Given the description of an element on the screen output the (x, y) to click on. 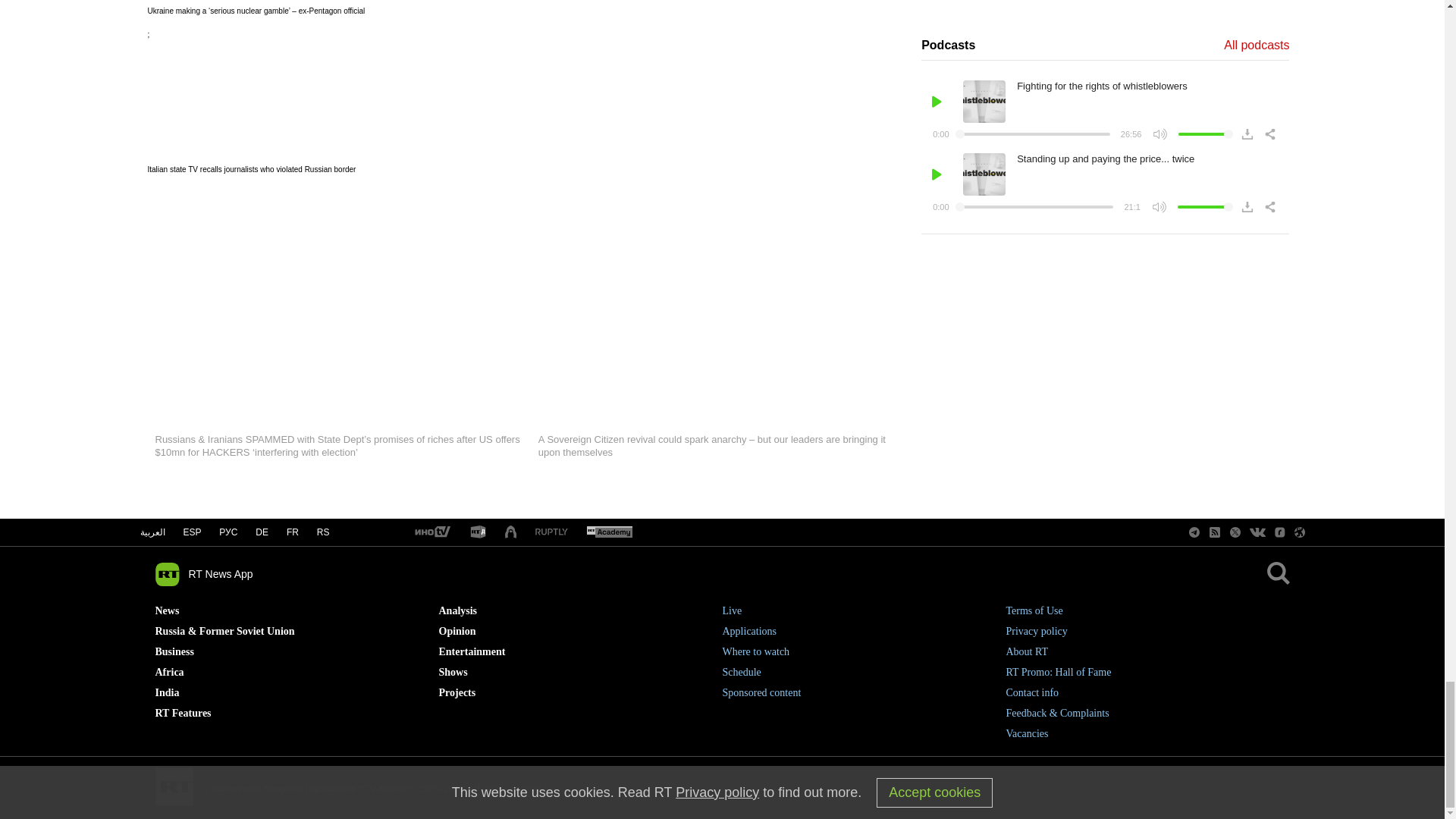
RT  (431, 532)
RT  (608, 532)
RT  (478, 532)
RT  (551, 532)
